Given the description of an element on the screen output the (x, y) to click on. 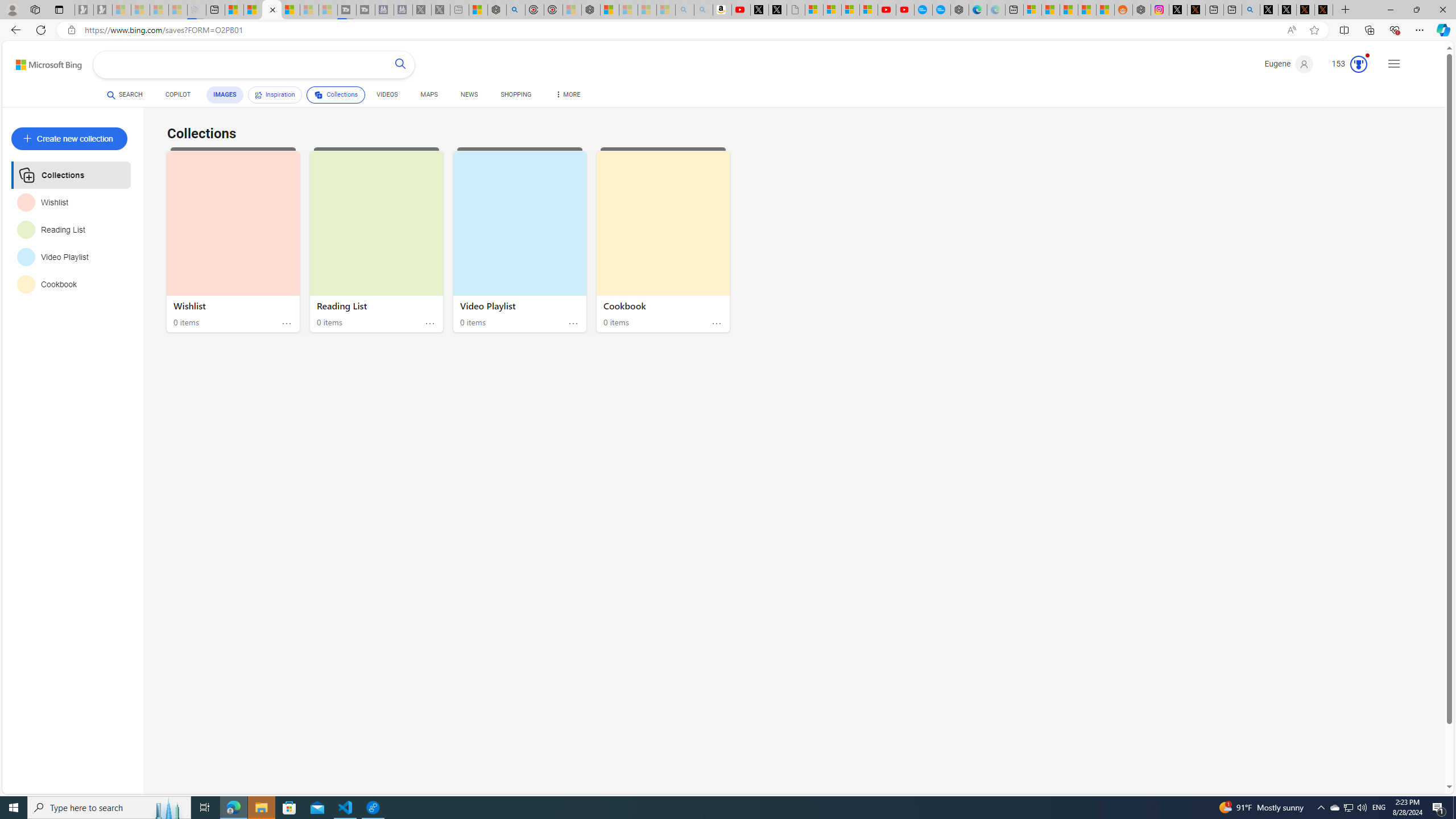
SHOPPING (515, 96)
Inspiration (274, 94)
Newsletter Sign Up - Sleeping (102, 9)
